Given the description of an element on the screen output the (x, y) to click on. 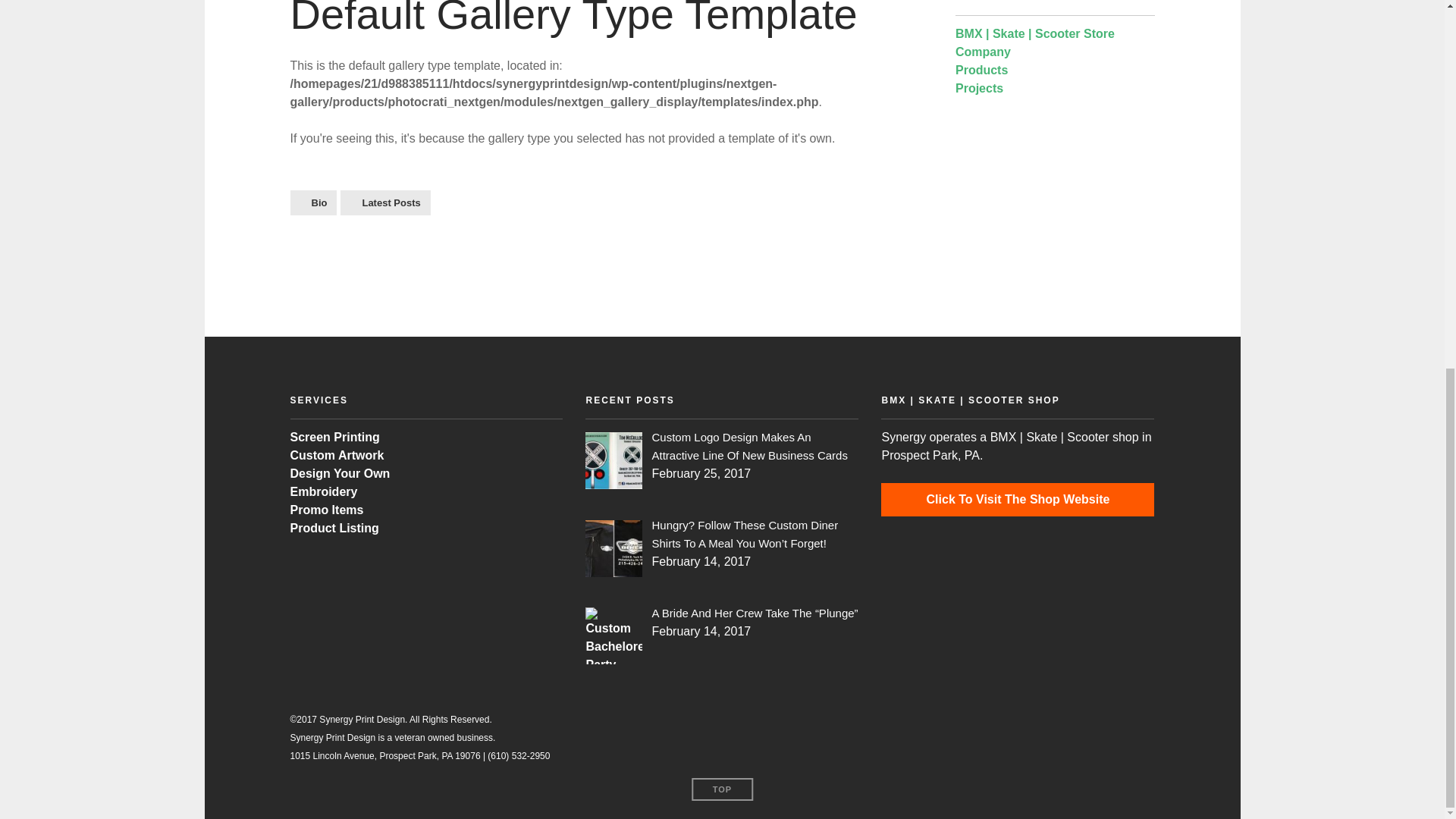
Bio (312, 202)
Latest Posts (384, 202)
